Given the description of an element on the screen output the (x, y) to click on. 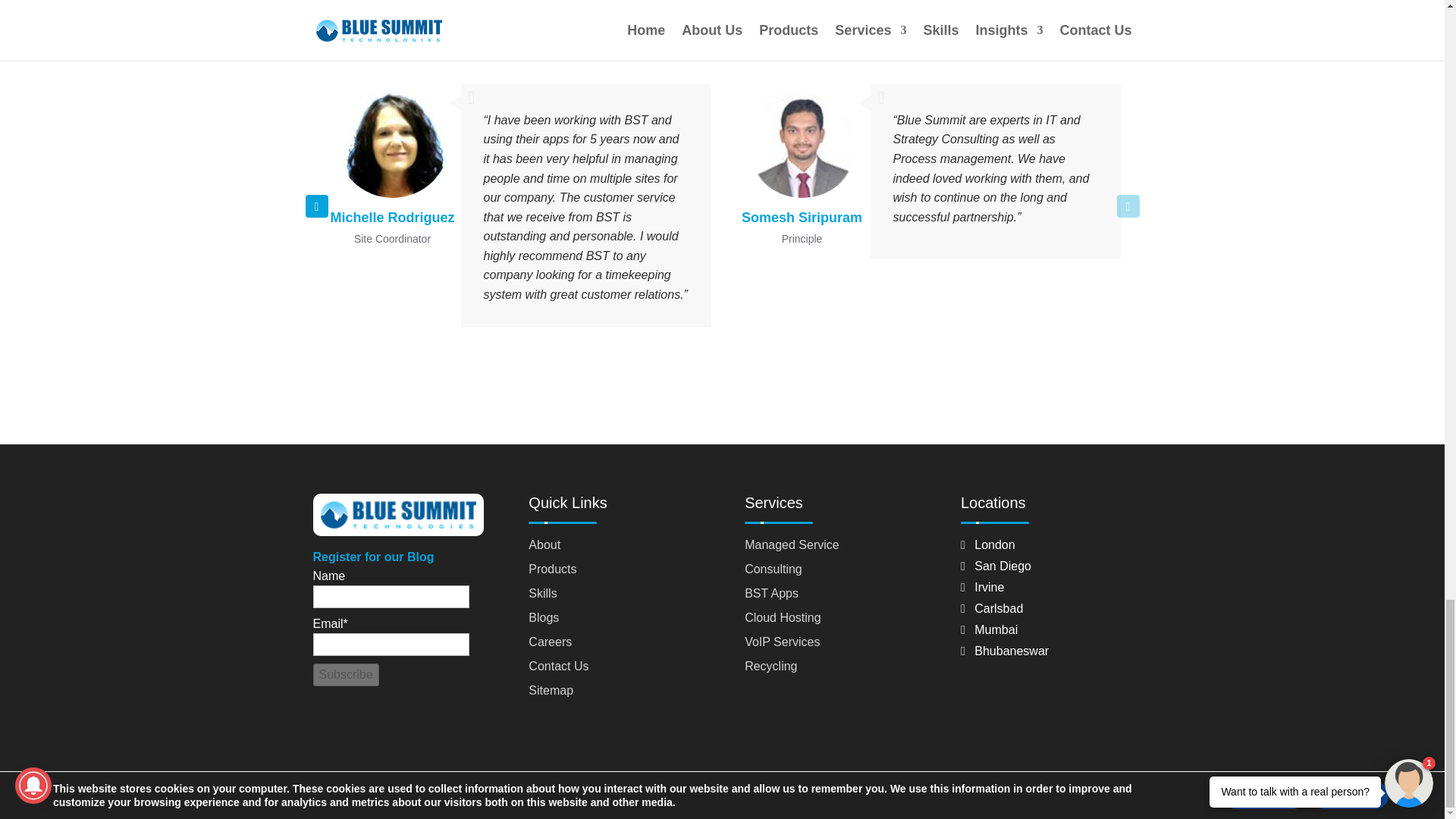
Subscribe (345, 674)
